Given the description of an element on the screen output the (x, y) to click on. 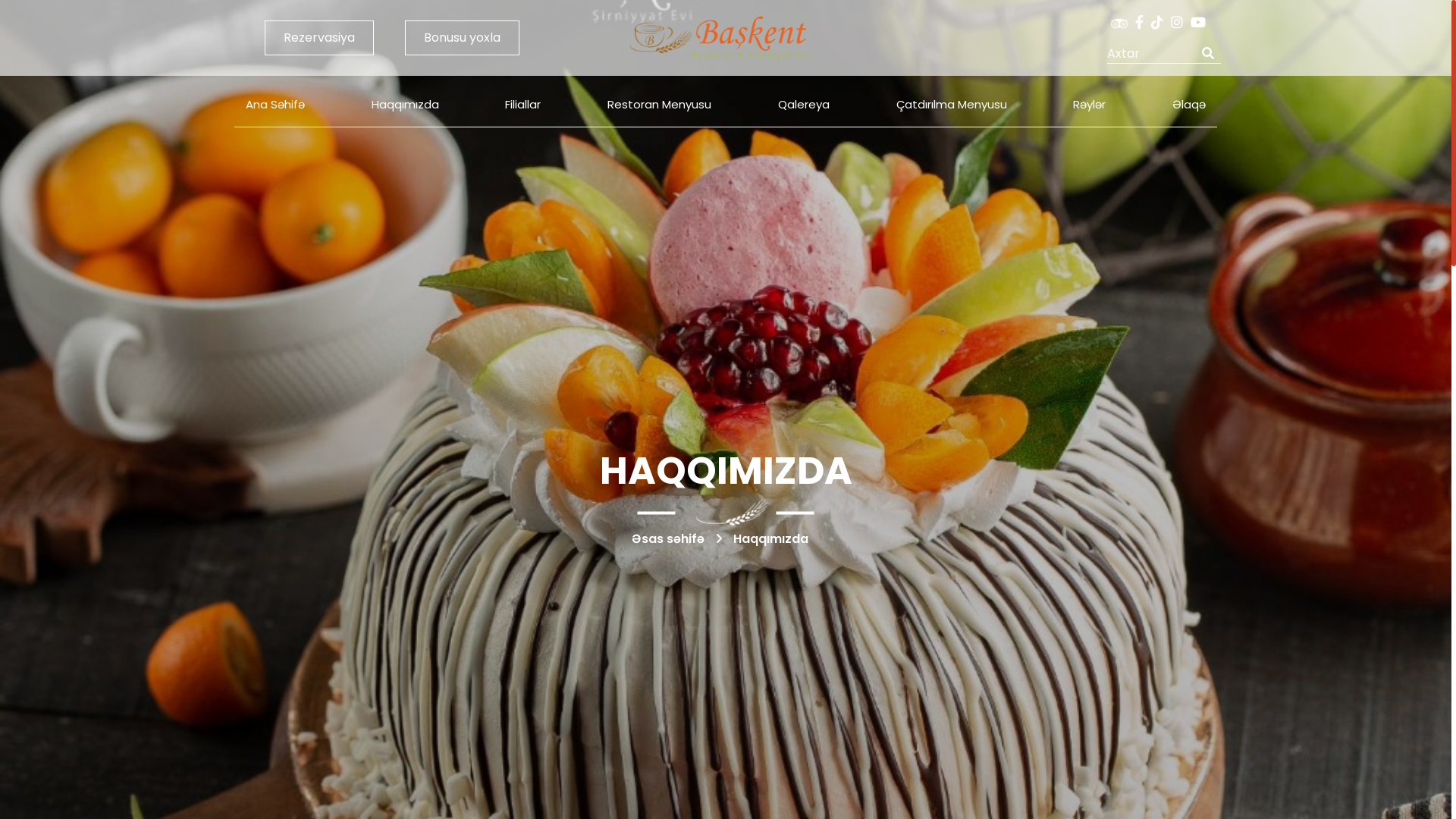
Qalereya Element type: text (803, 105)
Filiallar Element type: text (522, 105)
Bonusu yoxla Element type: text (461, 37)
Restoran Menyusu Element type: text (659, 105)
Rezervasiya Element type: text (318, 37)
